Given the description of an element on the screen output the (x, y) to click on. 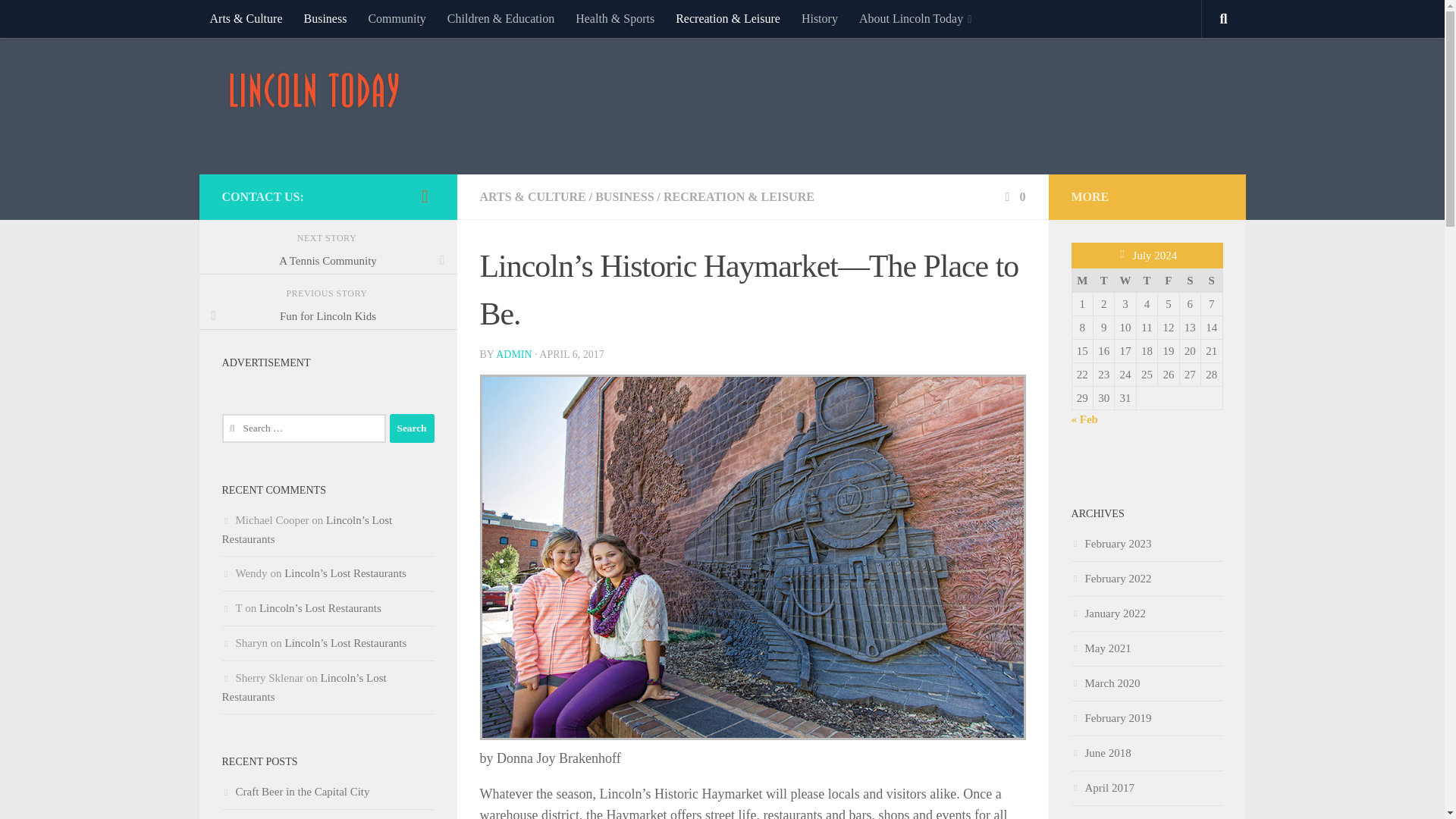
BUSINESS (624, 196)
About Lincoln Today (914, 18)
Search (411, 428)
Business (324, 18)
Monday (1082, 279)
Community (395, 18)
0 (1013, 196)
Skip to content (59, 20)
Contact Us via Email (423, 196)
Wednesday (1125, 279)
ADMIN (513, 354)
History (819, 18)
Posts by admin (513, 354)
Tuesday (1103, 279)
Search (411, 428)
